Given the description of an element on the screen output the (x, y) to click on. 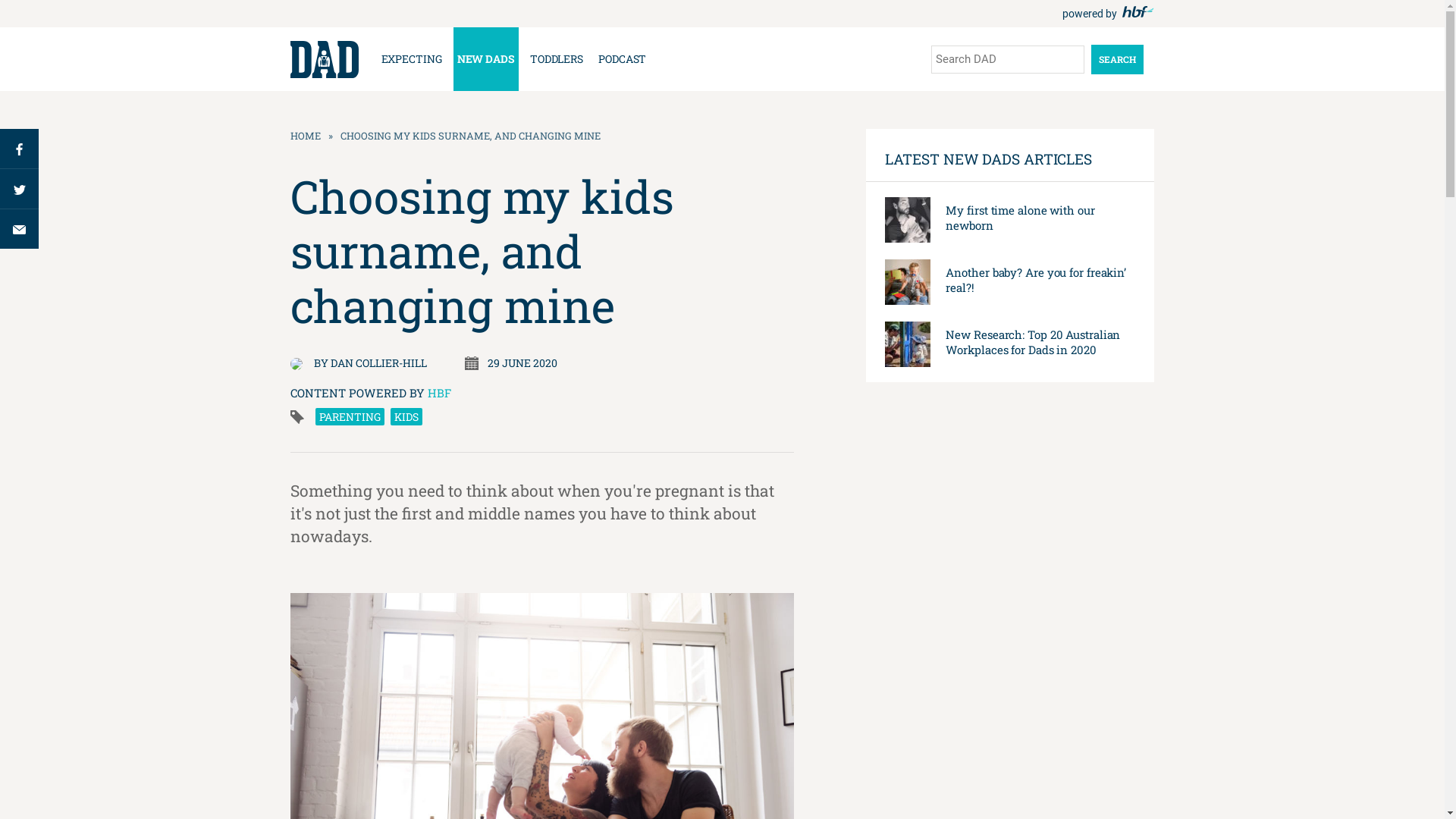
HBF Element type: text (439, 392)
Direct Advice for Dads Element type: text (323, 59)
Facebook Element type: text (19, 148)
HOME Element type: text (304, 135)
NEW DADS Element type: text (485, 59)
Twitter Element type: text (19, 188)
EXPECTING Element type: text (411, 59)
TODDLERS Element type: text (556, 59)
KIDS Element type: text (405, 416)
New Research: Top 20 Australian Workplaces for Dads in 2020 Element type: text (1032, 341)
PODCAST Element type: text (621, 59)
powered by hbf Element type: text (1107, 13)
Email Element type: text (19, 228)
PARENTING Element type: text (349, 416)
SEARCH Element type: text (1116, 58)
My first time alone with our newborn Element type: text (1019, 217)
